Given the description of an element on the screen output the (x, y) to click on. 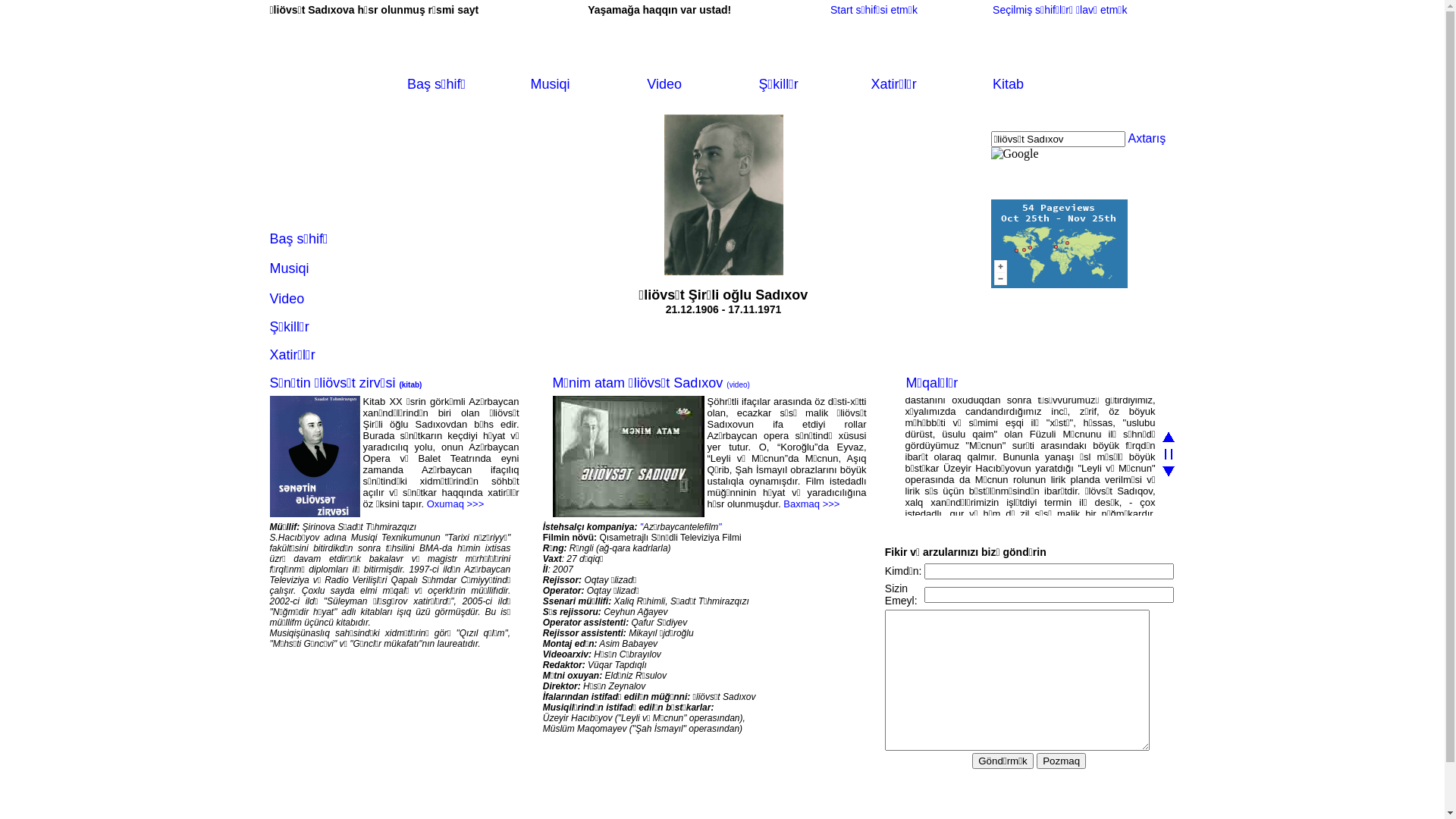
" Element type: text (640, 526)
Baxmaq >>> Element type: text (811, 503)
Oxumaq >>> Element type: text (455, 503)
Video Element type: text (286, 298)
" Element type: text (719, 526)
Video Element type: text (663, 83)
Musiqi Element type: text (550, 83)
Kitab Element type: text (1007, 83)
Musiqi Element type: text (289, 268)
